Given the description of an element on the screen output the (x, y) to click on. 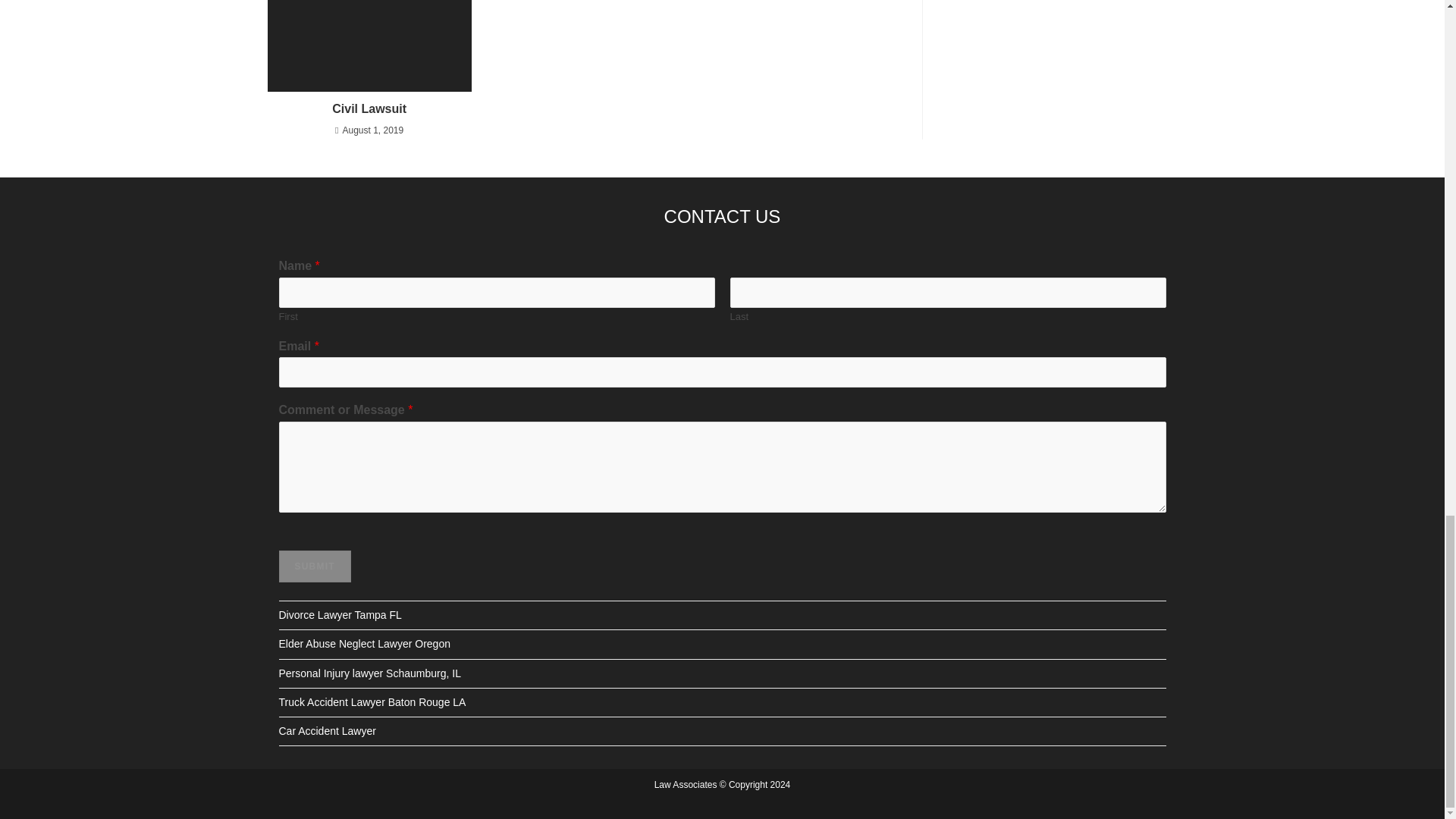
Elder Abuse Neglect Lawyer Oregon (364, 644)
Divorce Lawyer Tampa FL (340, 614)
SUBMIT (314, 566)
Truck Accident Lawyer Baton Rouge LA (372, 702)
Personal Injury lawyer Schaumburg, IL (370, 673)
Car Accident Lawyer (327, 730)
Civil Lawsuit (368, 108)
